Given the description of an element on the screen output the (x, y) to click on. 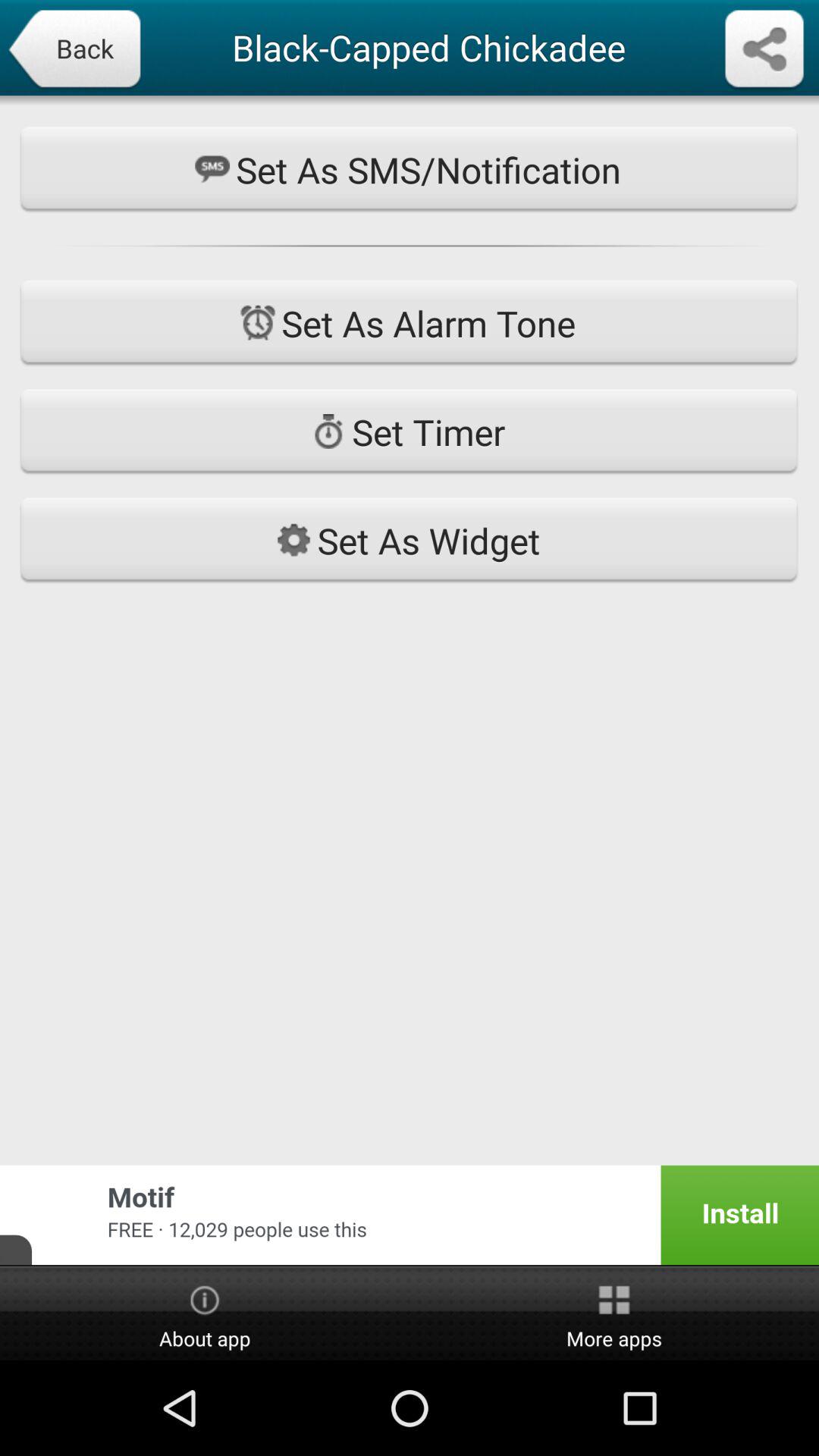
open the item next to black-capped chickadee (764, 50)
